Given the description of an element on the screen output the (x, y) to click on. 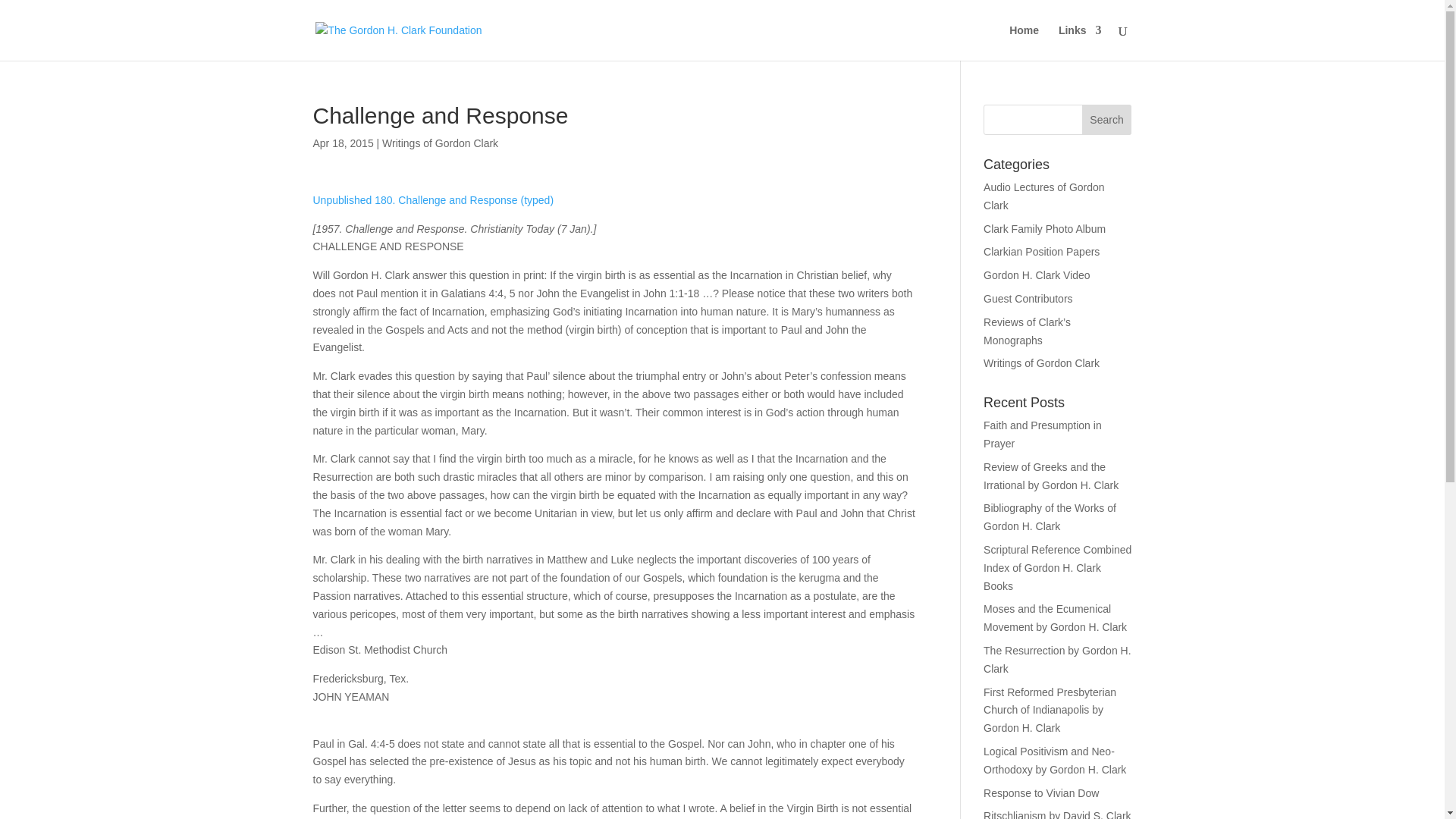
Search (1106, 119)
Moses and the Ecumenical Movement by Gordon H. Clark (1055, 617)
Gordon H. Clark Video (1037, 275)
Writings of Gordon Clark (439, 143)
Links (1080, 42)
Scriptural Reference Combined Index of Gordon H. Clark Books (1057, 567)
Audio Lectures of Gordon Clark (1044, 195)
Page 2 (614, 777)
Home (1024, 42)
Logical Positivism and Neo-Orthodoxy by Gordon H. Clark (1054, 760)
Review of Greeks and the Irrational by Gordon H. Clark (1051, 476)
Guest Contributors (1028, 298)
Clarkian Position Papers (1041, 251)
Ritschlianism by David S. Clark (1057, 814)
